Given the description of an element on the screen output the (x, y) to click on. 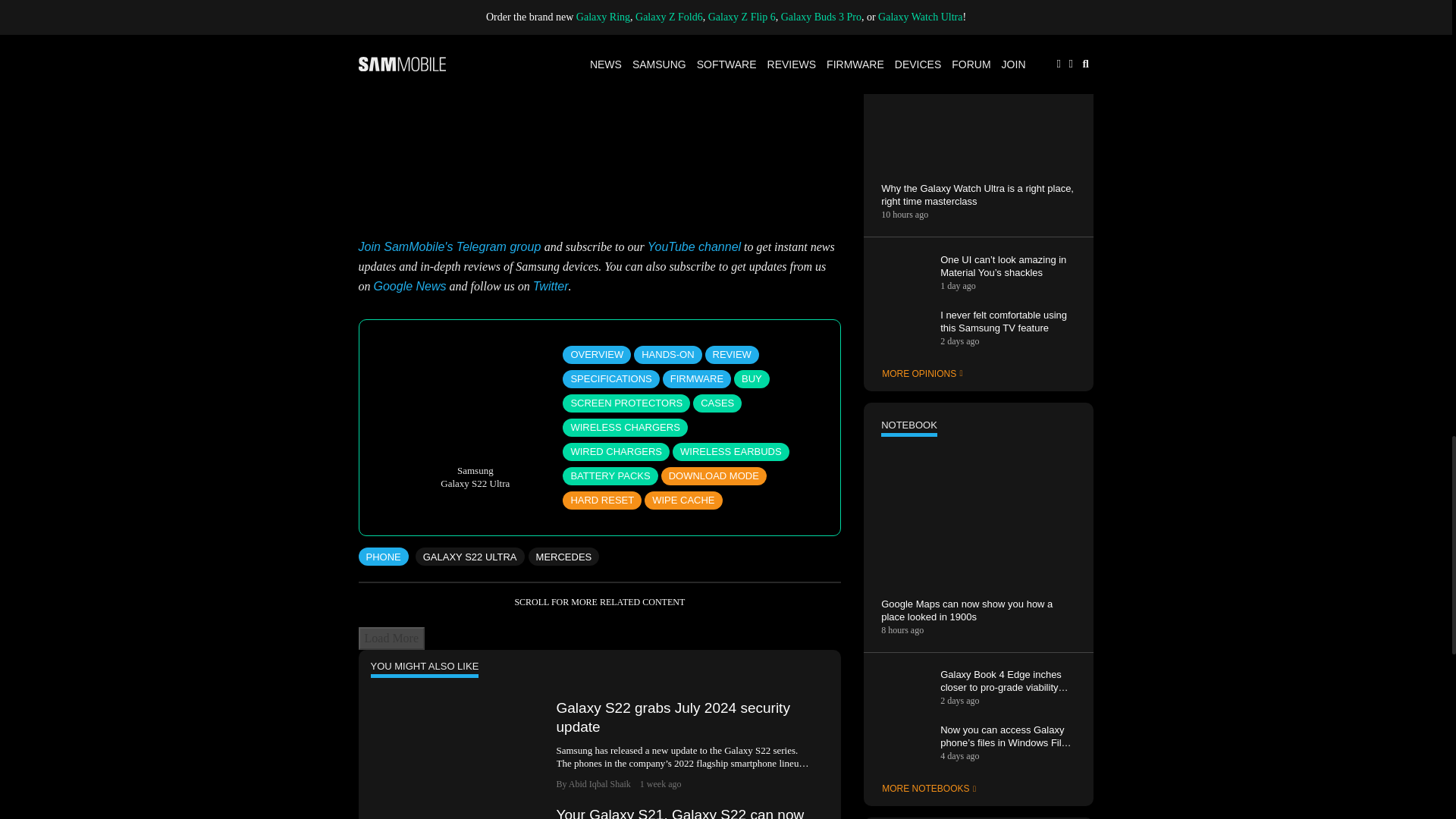
SCROLL FOR MORE RELATED CONTENT (599, 602)
